Given the description of an element on the screen output the (x, y) to click on. 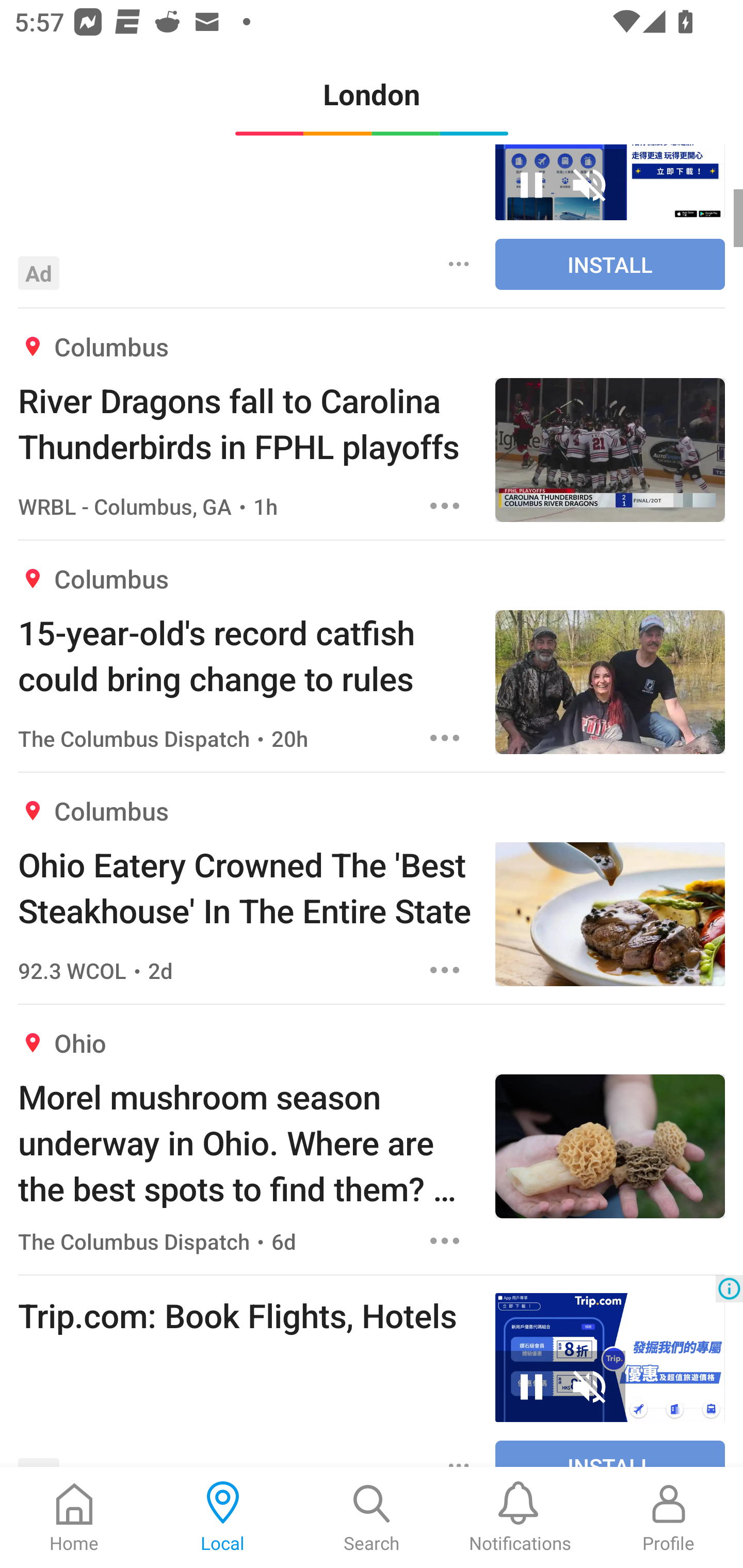
INSTALL (610, 264)
Options (459, 264)
Options (444, 506)
Options (444, 738)
Options (444, 970)
Options (444, 1240)
Ad Choices Icon (729, 1288)
Trip.com: Book Flights, Hotels (247, 1315)
Home (74, 1517)
Search (371, 1517)
Notifications (519, 1517)
Profile (668, 1517)
